Given the description of an element on the screen output the (x, y) to click on. 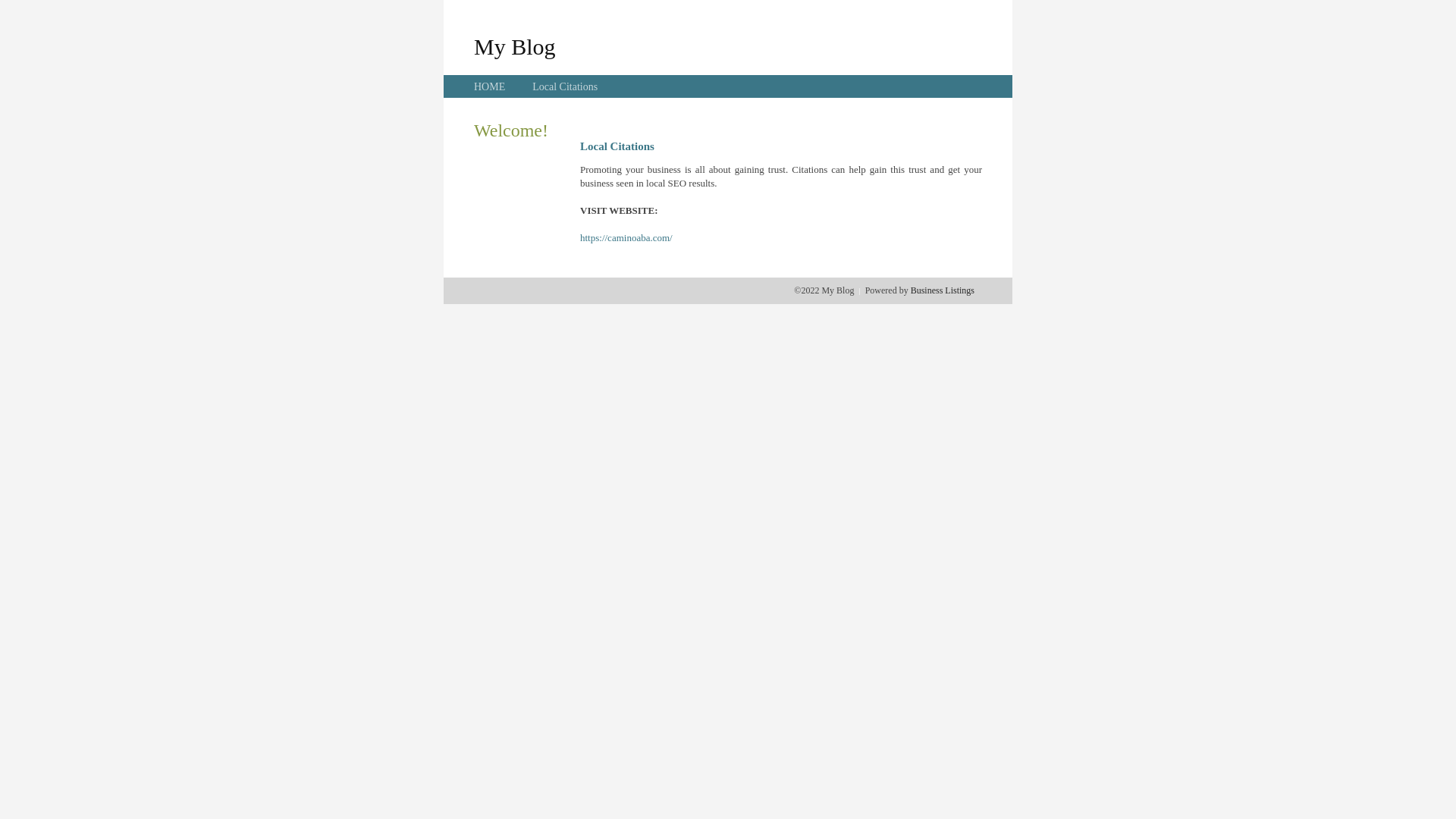
Local Citations Element type: text (564, 86)
My Blog Element type: text (514, 46)
https://caminoaba.com/ Element type: text (626, 237)
Business Listings Element type: text (942, 290)
HOME Element type: text (489, 86)
